Given the description of an element on the screen output the (x, y) to click on. 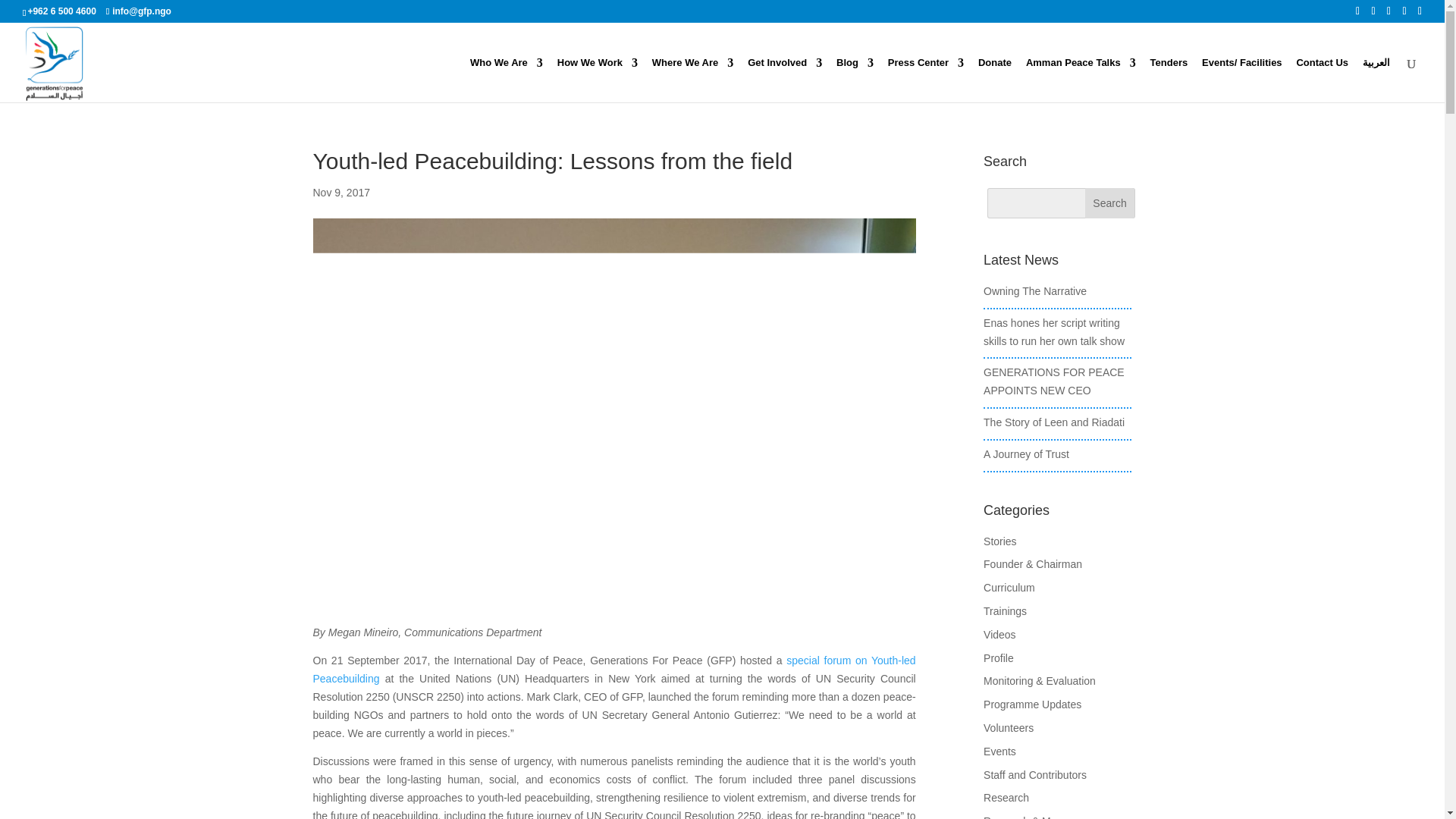
Press Center (925, 79)
How We Work (597, 79)
Search (1109, 203)
Get Involved (785, 79)
Who We Are (506, 79)
Where We Are (692, 79)
